Given the description of an element on the screen output the (x, y) to click on. 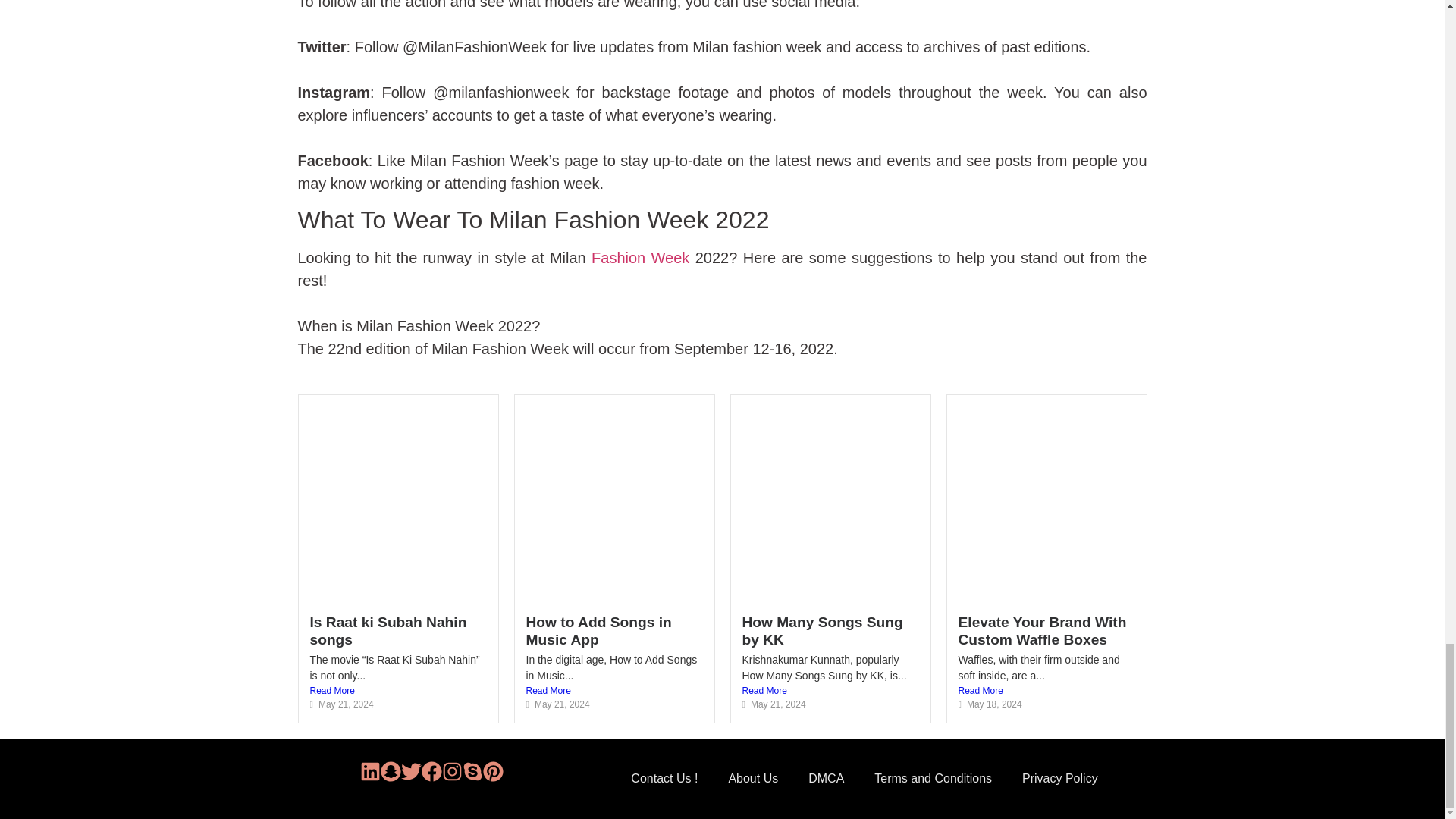
How Many Songs Sung by KK (821, 630)
How to Add Songs in Music App (598, 630)
Is Raat ki Subah Nahin songs (386, 630)
Elevate Your Brand With Custom Waffle Boxes (1042, 630)
